Given the description of an element on the screen output the (x, y) to click on. 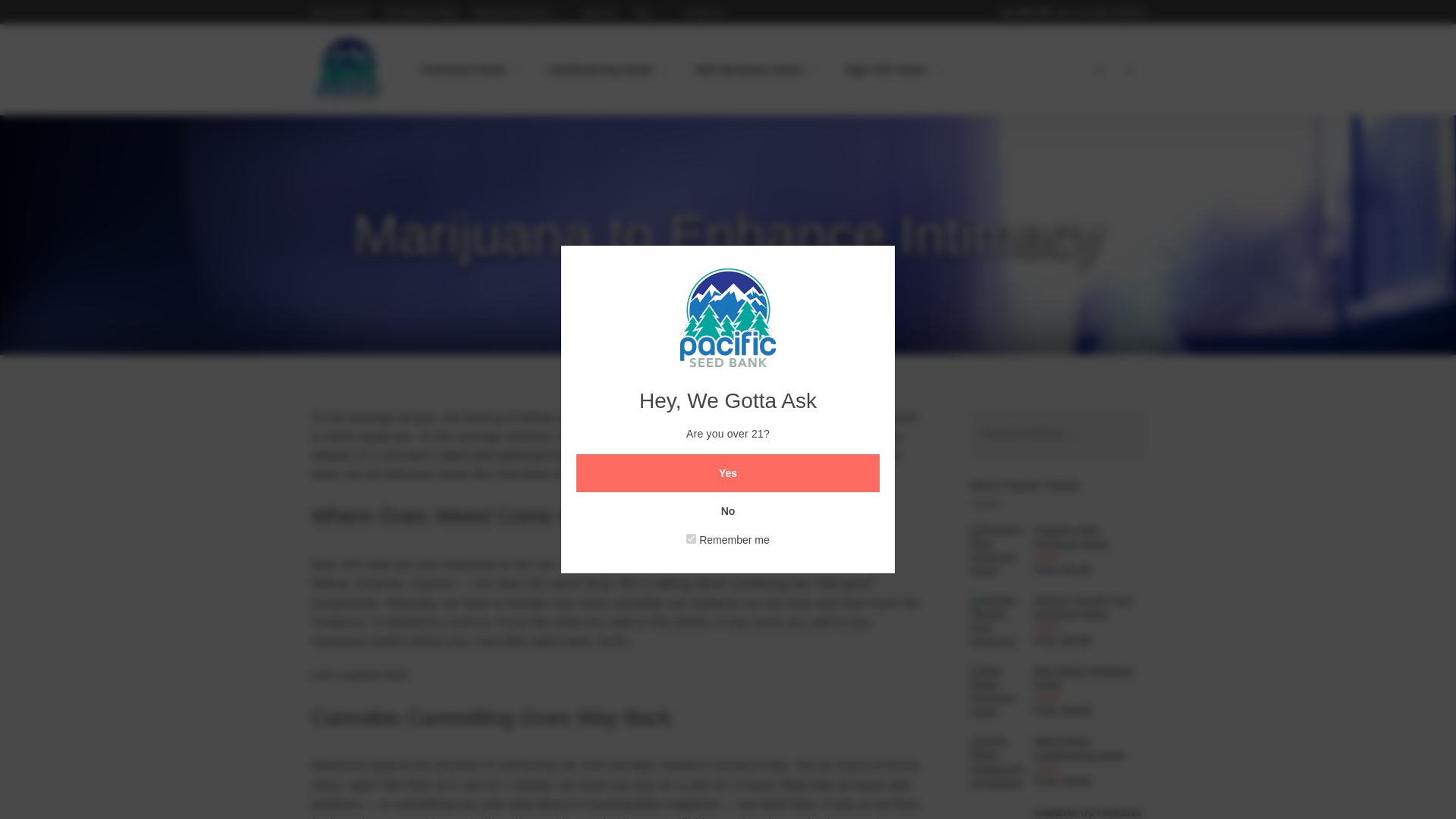
Yes (727, 473)
Shop All Seeds (339, 11)
Pacific Seed Bank (349, 70)
FAQ (649, 11)
Our Marijuana Blog (421, 11)
About Us (598, 11)
Marijuana Education (520, 11)
No (727, 510)
1 (690, 538)
Feminized Seeds (472, 69)
Contact Us (702, 11)
